Given the description of an element on the screen output the (x, y) to click on. 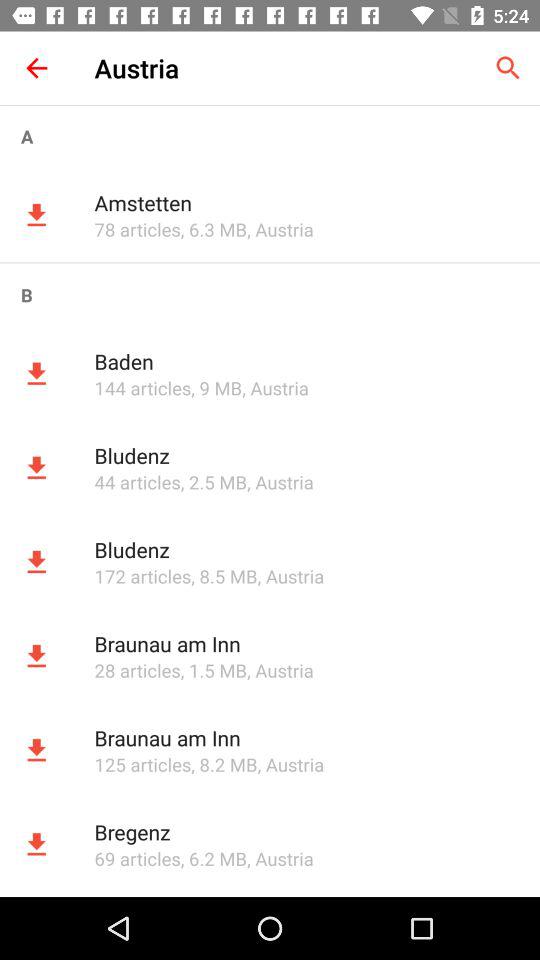
click 125 articles app (142, 764)
